Given the description of an element on the screen output the (x, y) to click on. 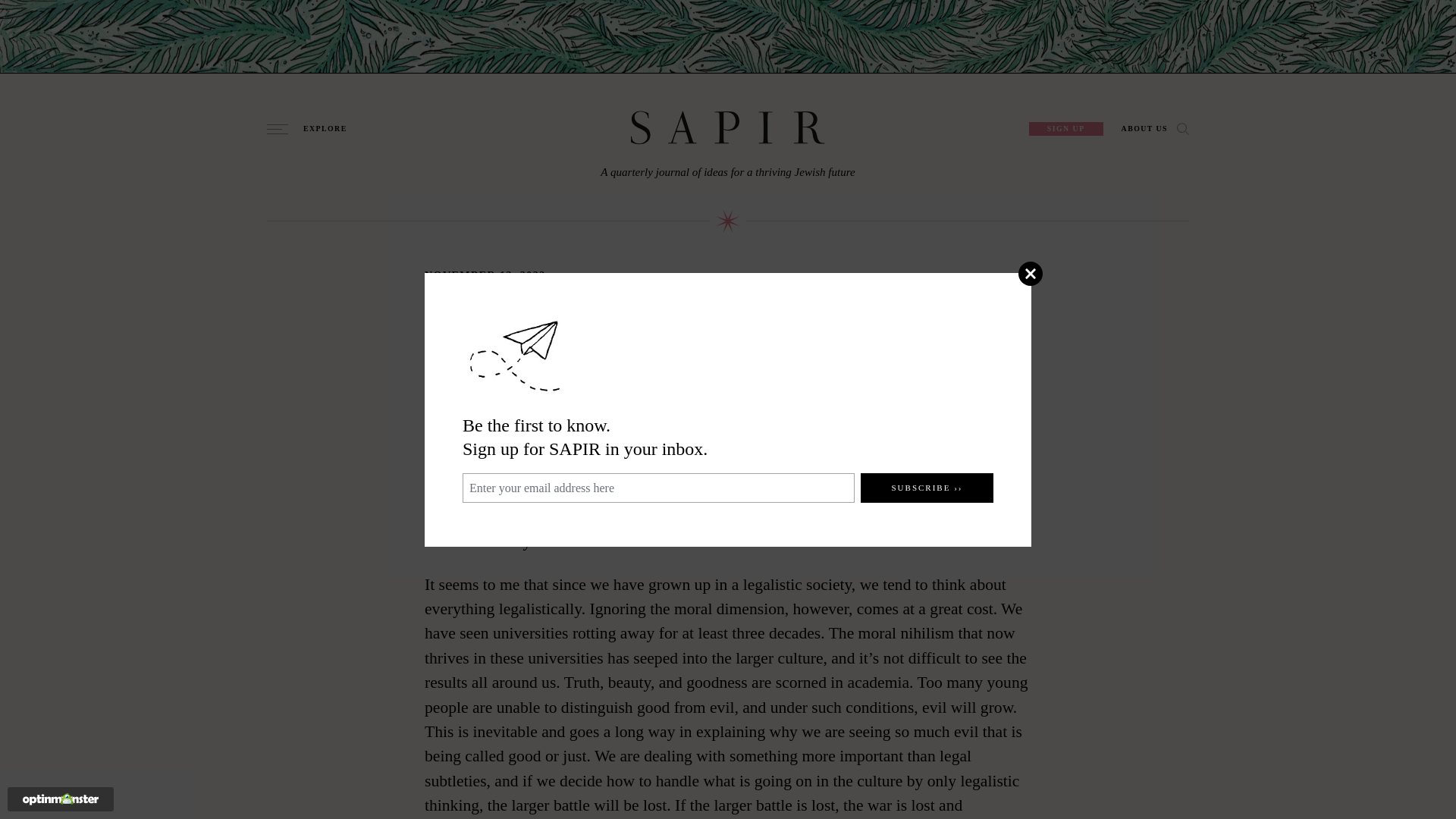
EXPLORE (319, 128)
Close (1029, 273)
Powered by OptinMonster (61, 799)
ABOUT US (1144, 128)
SIGN UP (1066, 128)
article (803, 467)
